Given the description of an element on the screen output the (x, y) to click on. 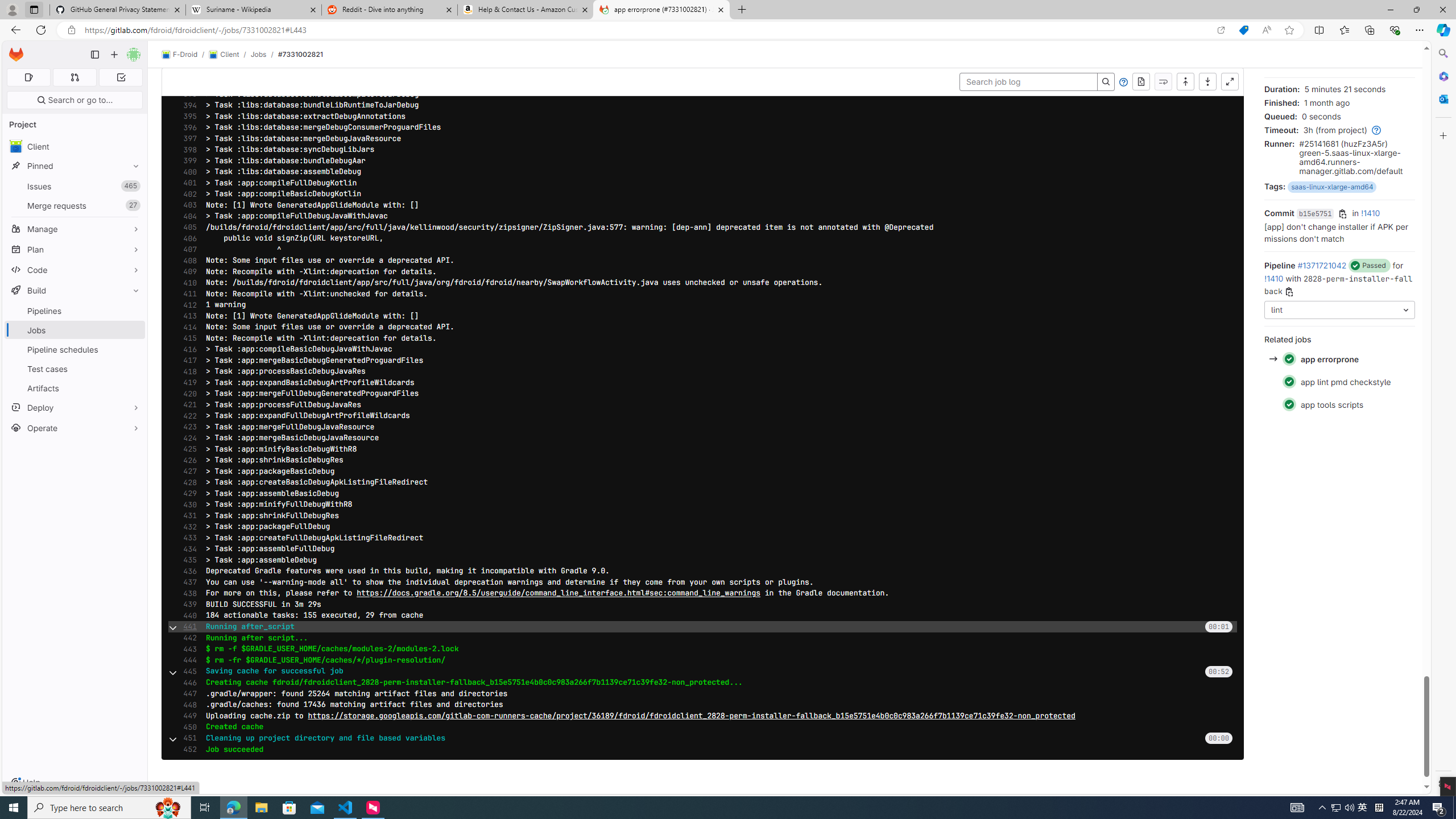
Scroll to next failure (1163, 81)
428 (186, 482)
Build (74, 289)
Scroll to bottom (1207, 81)
Plan (74, 248)
392 (186, 82)
Pinned (74, 165)
Help (1123, 81)
448 (186, 704)
415 (186, 337)
lint (1339, 309)
397 (186, 138)
450 (186, 727)
